Given the description of an element on the screen output the (x, y) to click on. 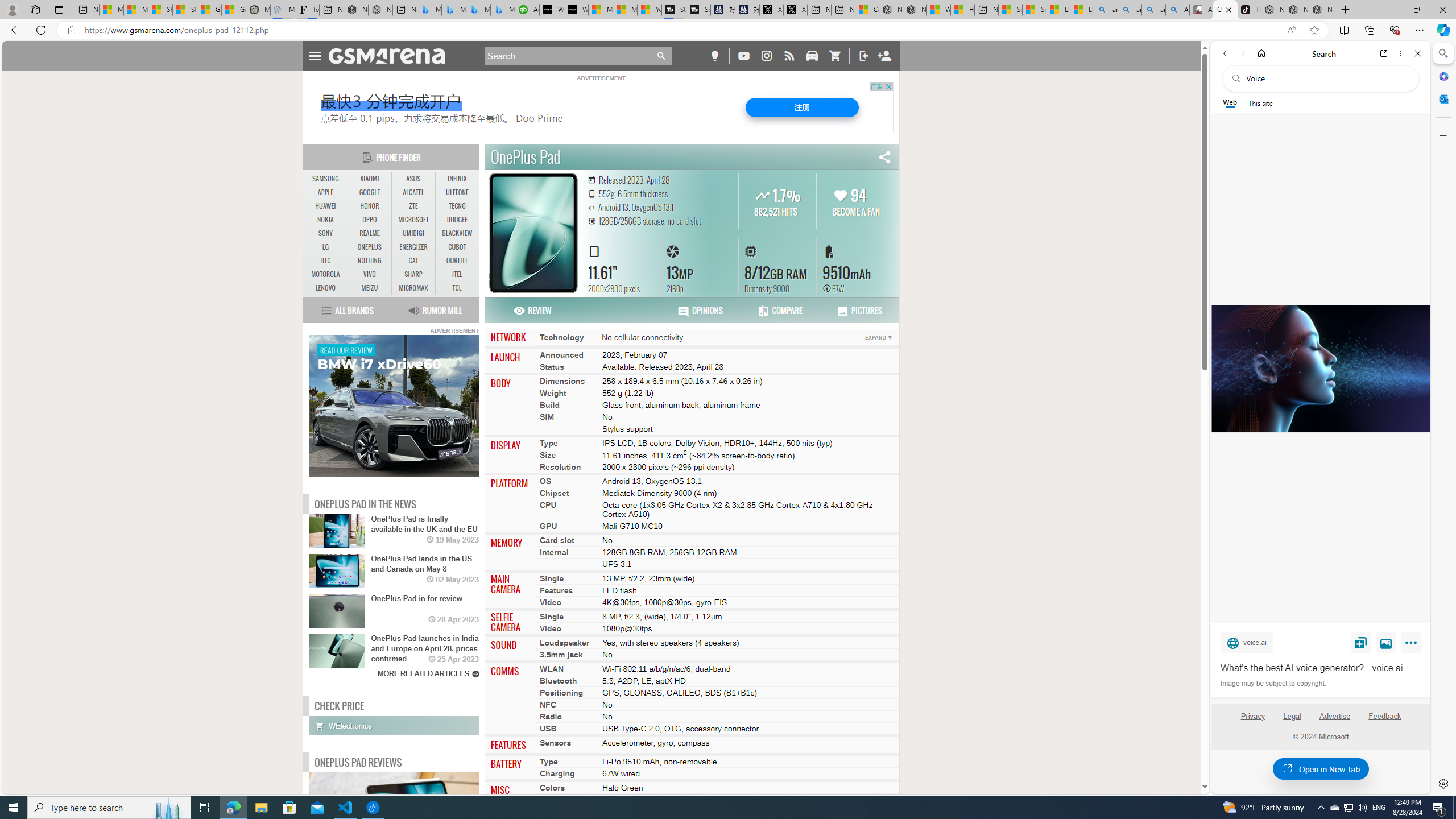
CPU (548, 505)
ONEPLUS PAD IN THE NEWS (365, 504)
Legal (1292, 720)
Microsoft Bing Travel - Shangri-La Hotel Bangkok (502, 9)
Status (552, 366)
TCL (457, 287)
App bar (728, 29)
HONOR (369, 205)
Positioning (561, 692)
Nordace - #1 Japanese Best-Seller - Siena Smart Backpack (380, 9)
